Given the description of an element on the screen output the (x, y) to click on. 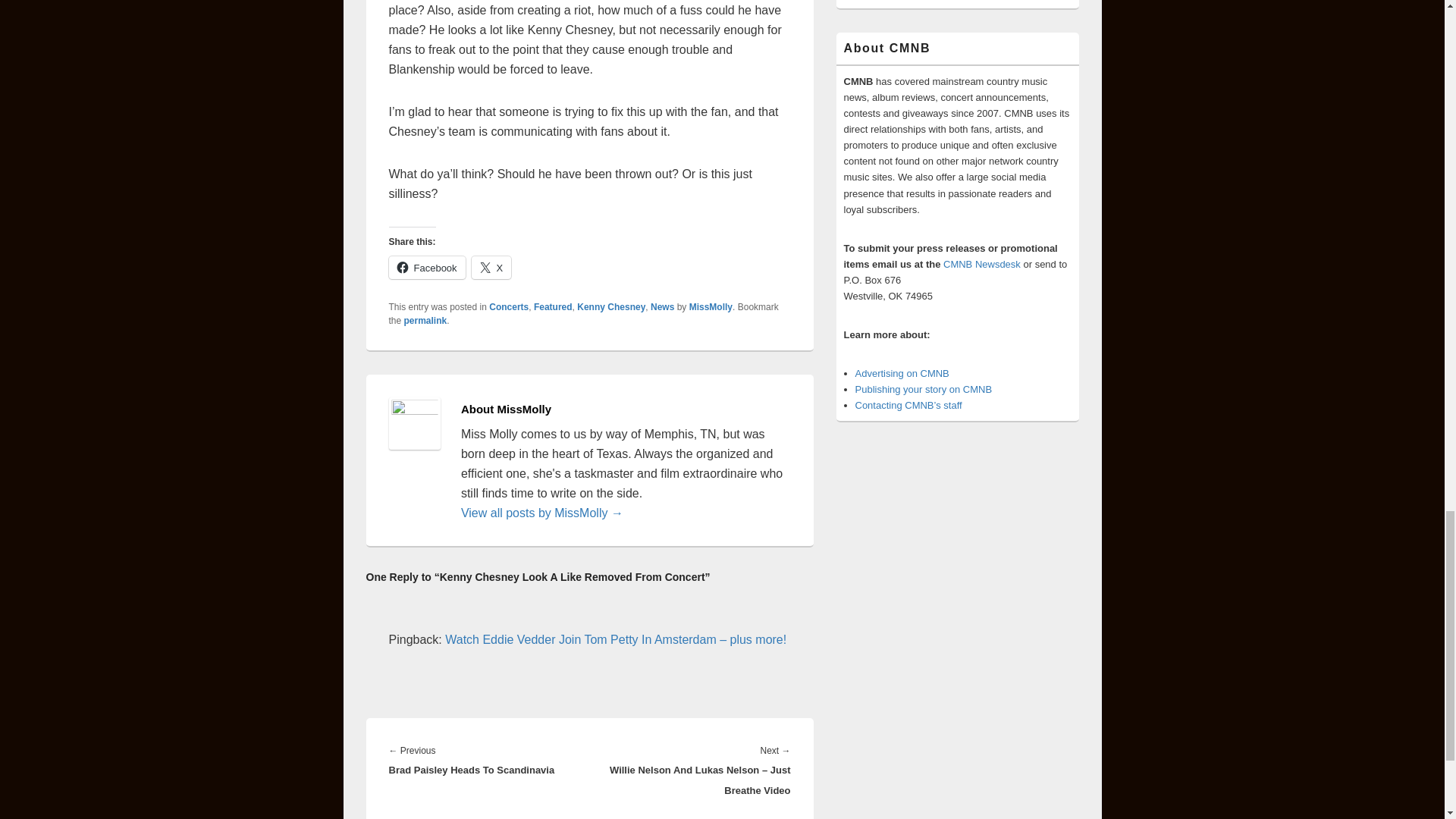
Permalink to Kenny Chesney Look A Like Removed From Concert (425, 320)
Email CMNB (981, 264)
Click to share on Facebook (426, 267)
X (491, 267)
Country Music News (924, 389)
Click to share on X (491, 267)
Kenny Chesney (610, 307)
Email CMNB (909, 405)
MissMolly (710, 307)
Concerts (508, 307)
News (662, 307)
permalink (425, 320)
Featured (553, 307)
Country Music Advertising (902, 373)
Facebook (426, 267)
